Given the description of an element on the screen output the (x, y) to click on. 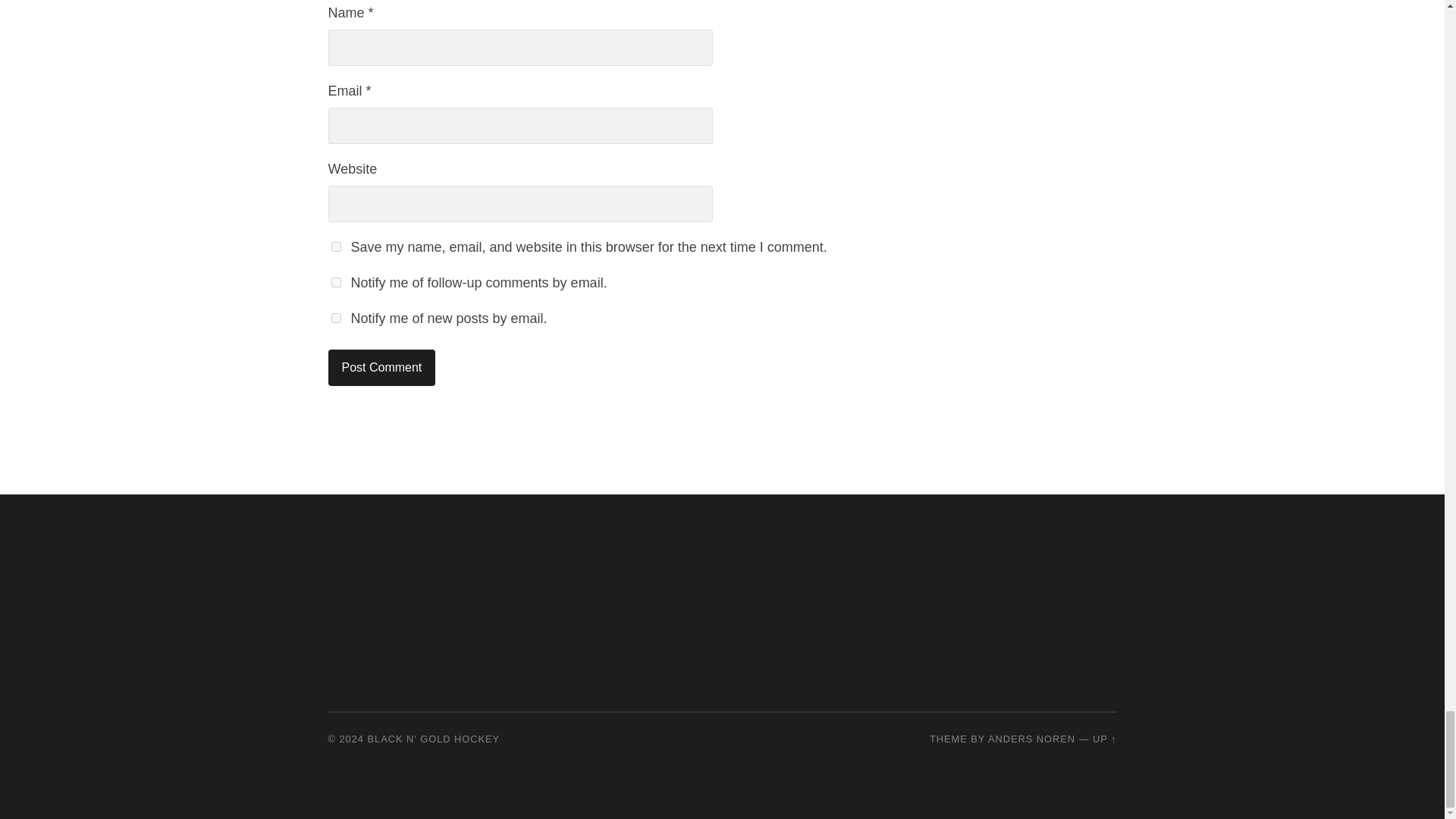
Post Comment (381, 367)
yes (335, 246)
To the top (1104, 738)
subscribe (335, 282)
subscribe (335, 317)
